Given the description of an element on the screen output the (x, y) to click on. 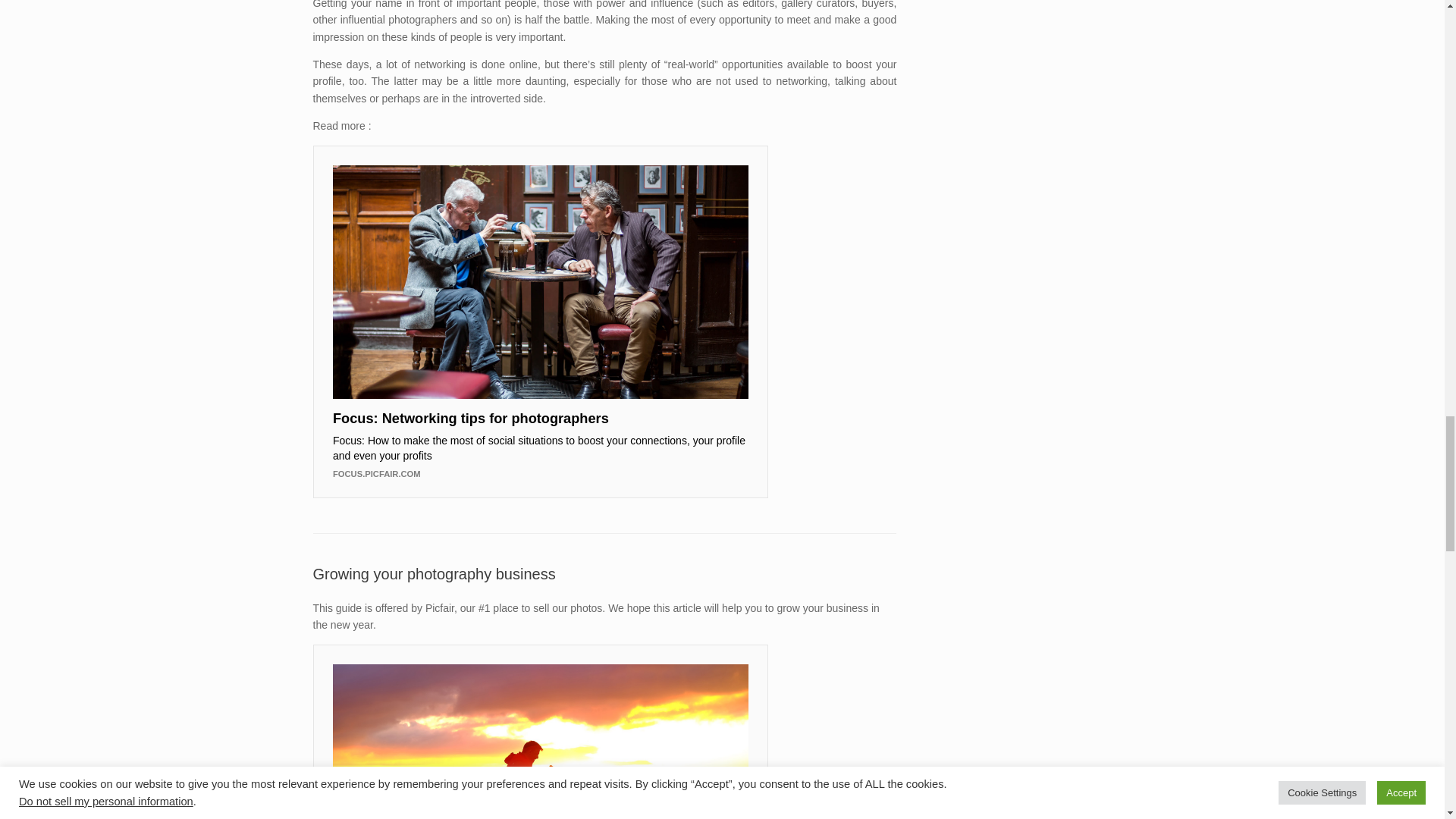
Growing your photography business (433, 573)
Permalink to Growing your photography business (433, 573)
